Given the description of an element on the screen output the (x, y) to click on. 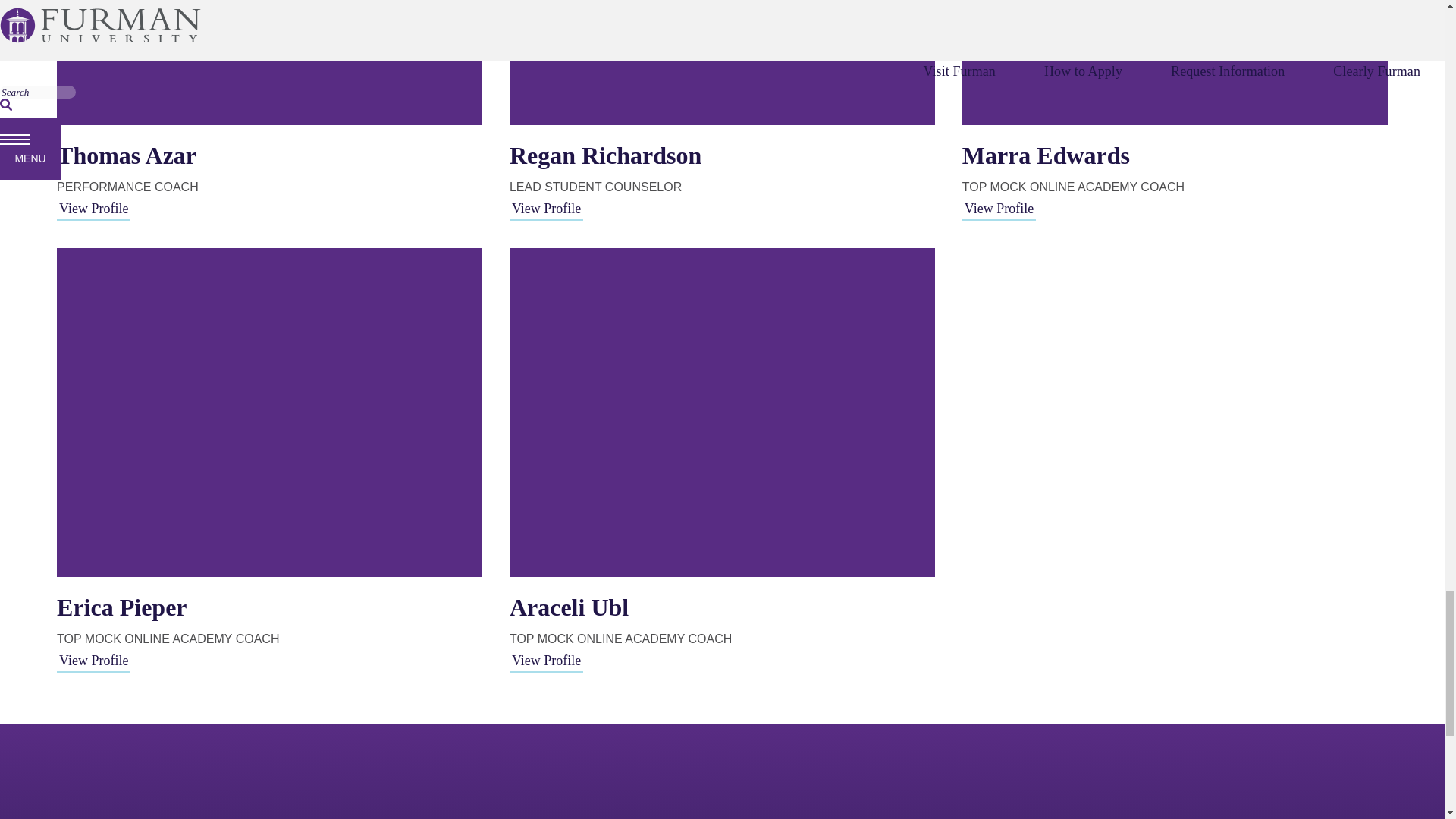
View Profile (546, 208)
View Profile (998, 208)
View Profile (93, 208)
View Profile (93, 660)
View Profile (546, 660)
